Given the description of an element on the screen output the (x, y) to click on. 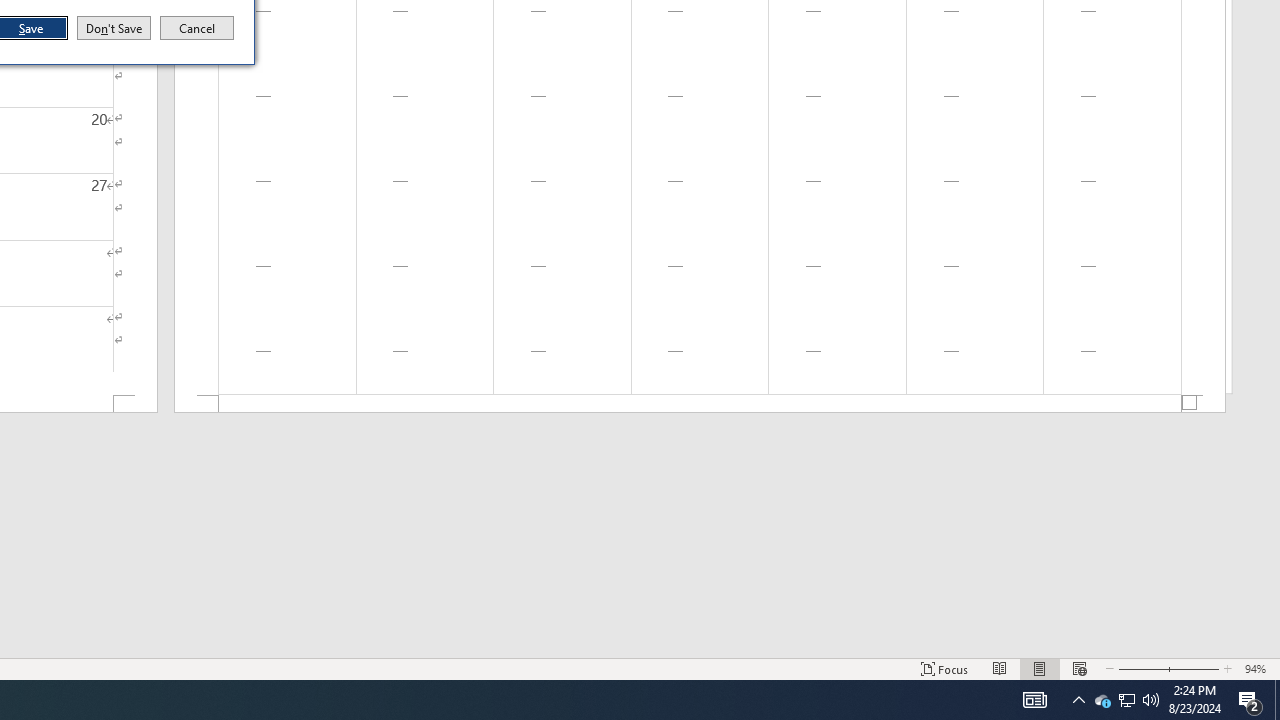
User Promoted Notification Area (1126, 699)
Show desktop (1277, 699)
AutomationID: 4105 (1034, 699)
Action Center, 2 new notifications (1126, 699)
Don't Save (1250, 699)
